Given the description of an element on the screen output the (x, y) to click on. 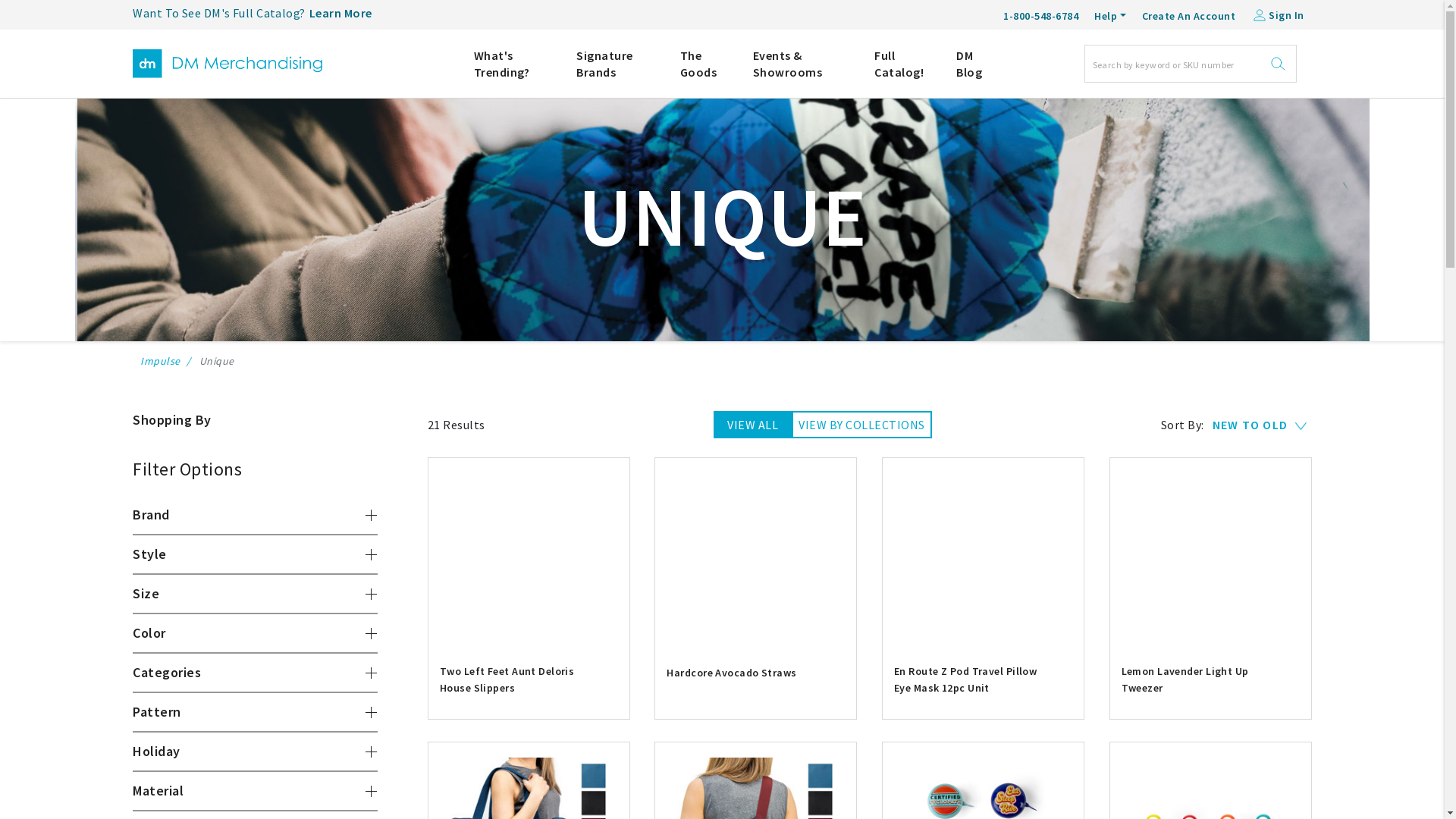
VIEW BY COLLECTIONS Element type: text (861, 424)
Events & Showrooms Element type: text (801, 63)
En Route Z Pod Travel Pillow Eye Mask 12pc Unit Element type: text (983, 695)
Hardcore Avocado Straws Element type: text (755, 673)
Help Element type: text (1109, 16)
The Goods Element type: text (705, 63)
Lemon Lavender Light Up Tweezer Element type: text (1210, 695)
What's Trending? Element type: text (513, 63)
Learn More Element type: text (340, 13)
Two Left Feet Aunt Deloris House Slippers Element type: text (528, 695)
Signature Brands Element type: text (616, 63)
Impulse Element type: text (160, 360)
DM Blog Element type: text (974, 63)
Full Catalog! Element type: text (903, 63)
Create An Account Element type: text (1189, 13)
